Given the description of an element on the screen output the (x, y) to click on. 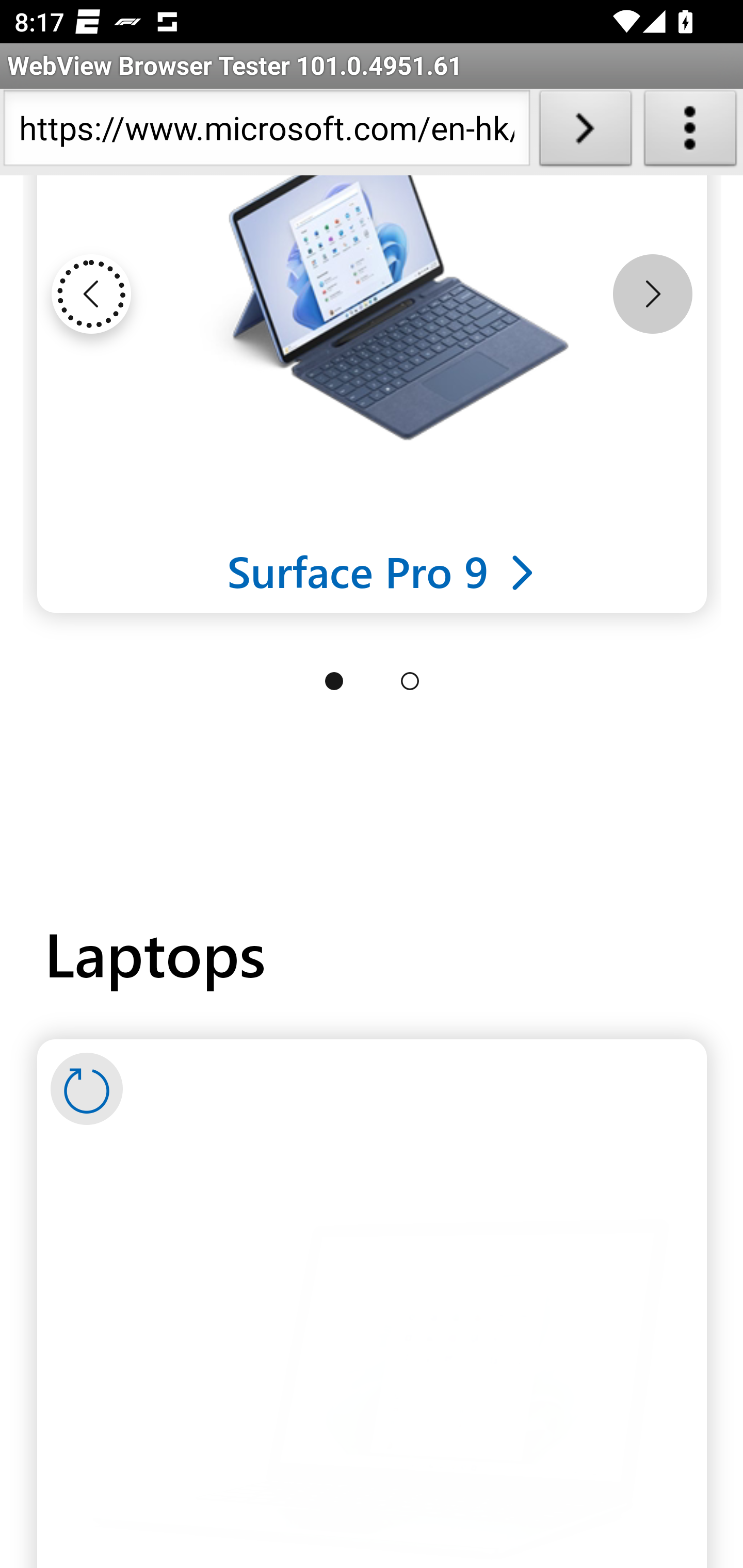
Load URL (585, 132)
About WebView (690, 132)
Previous slide (90, 294)
Next slide (652, 294)
Replay video (87, 1090)
